Given the description of an element on the screen output the (x, y) to click on. 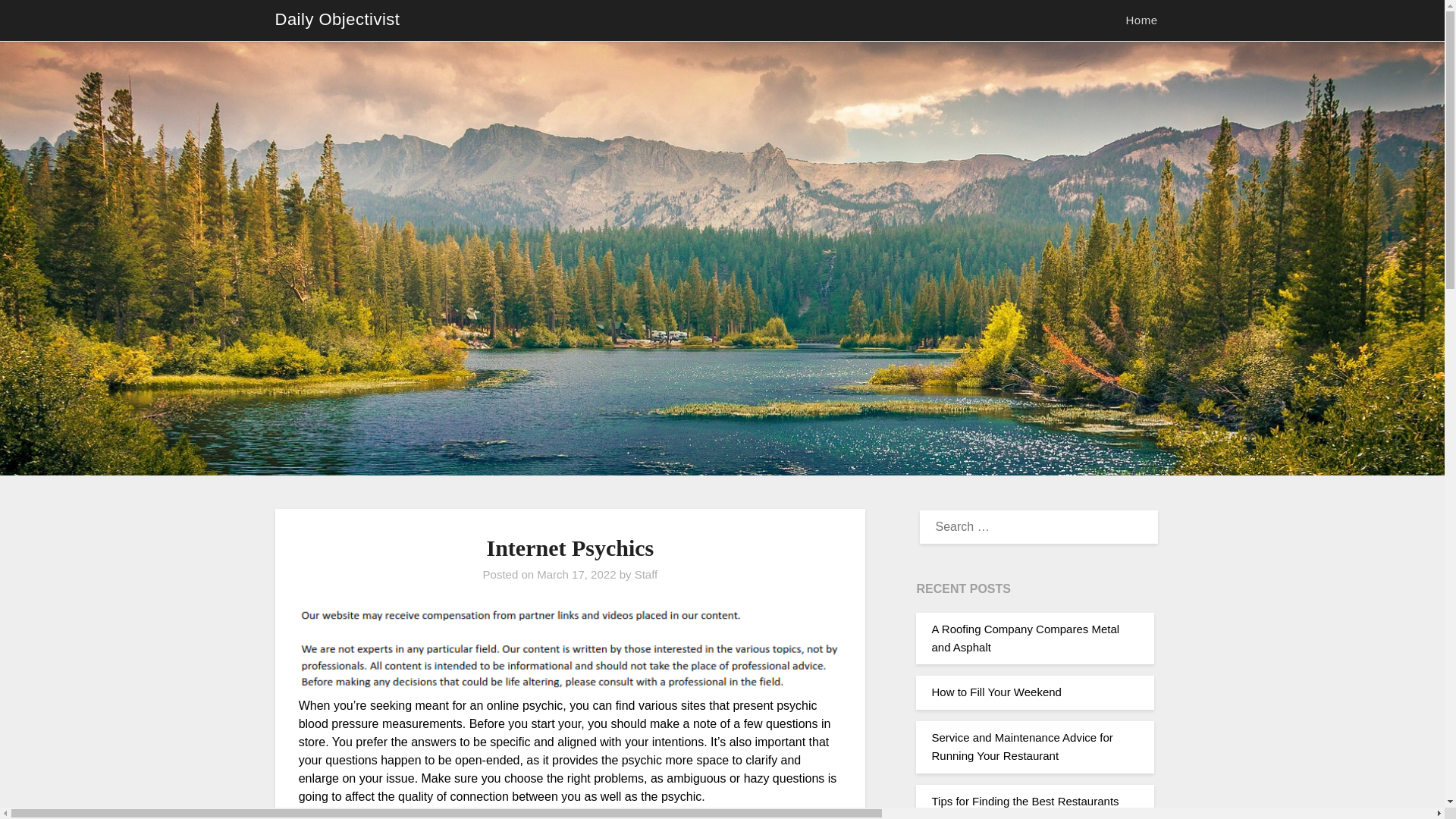
Staff (646, 574)
Daily Objectivist (336, 19)
Tips for Finding the Best Restaurants Near You (1024, 806)
March 17, 2022 (576, 574)
Home (1141, 20)
Service and Maintenance Advice for Running Your Restaurant (1021, 746)
A Roofing Company Compares Metal and Asphalt (1025, 637)
How to Fill Your Weekend (996, 691)
Search (38, 22)
